Given the description of an element on the screen output the (x, y) to click on. 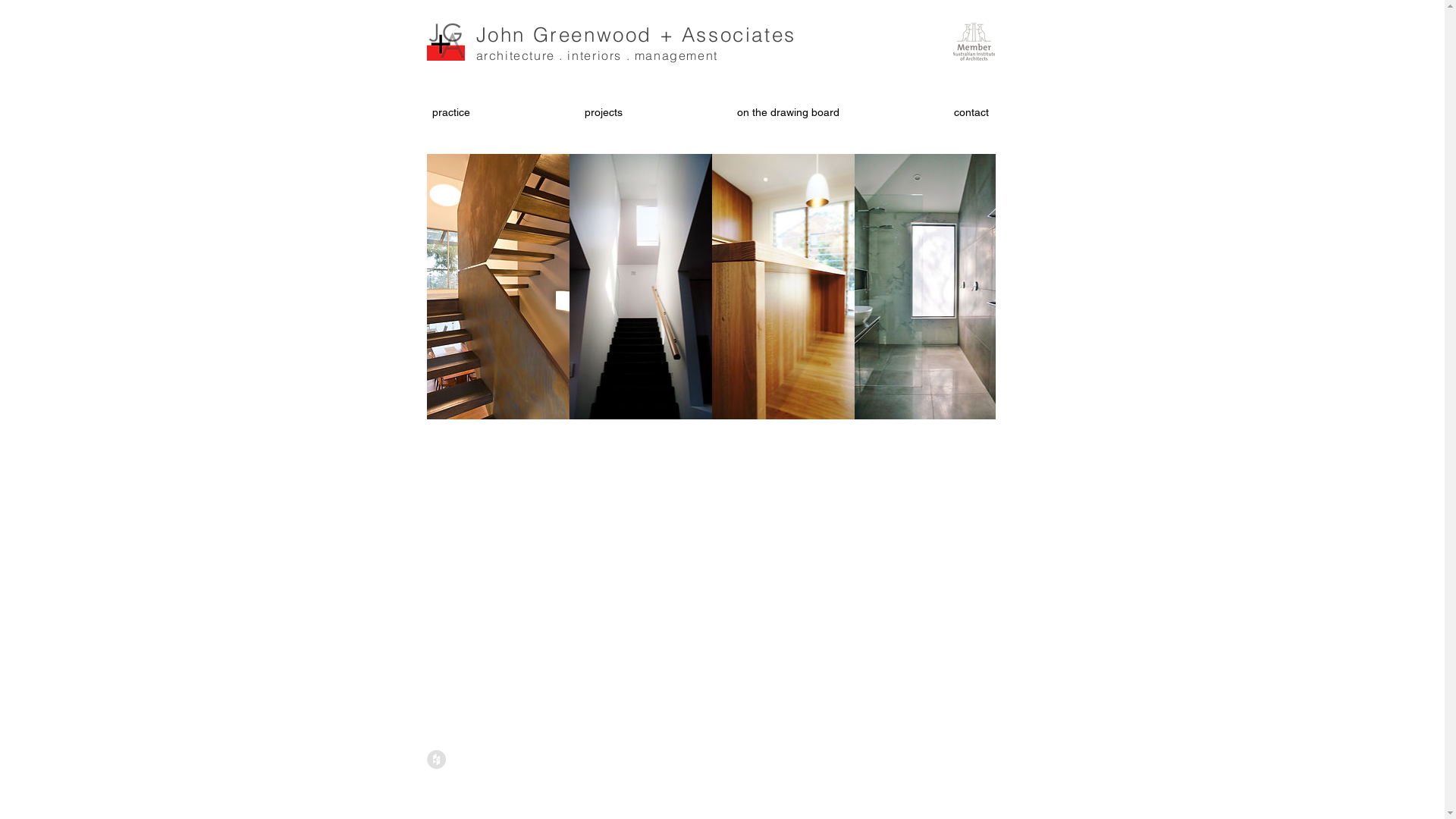
John Greenwood + Associates Element type: text (636, 34)
on the drawing board Element type: text (787, 111)
practice Element type: text (450, 111)
projects Element type: text (603, 111)
architecture . interiors . management Element type: text (597, 54)
contact Element type: text (970, 111)
